Given the description of an element on the screen output the (x, y) to click on. 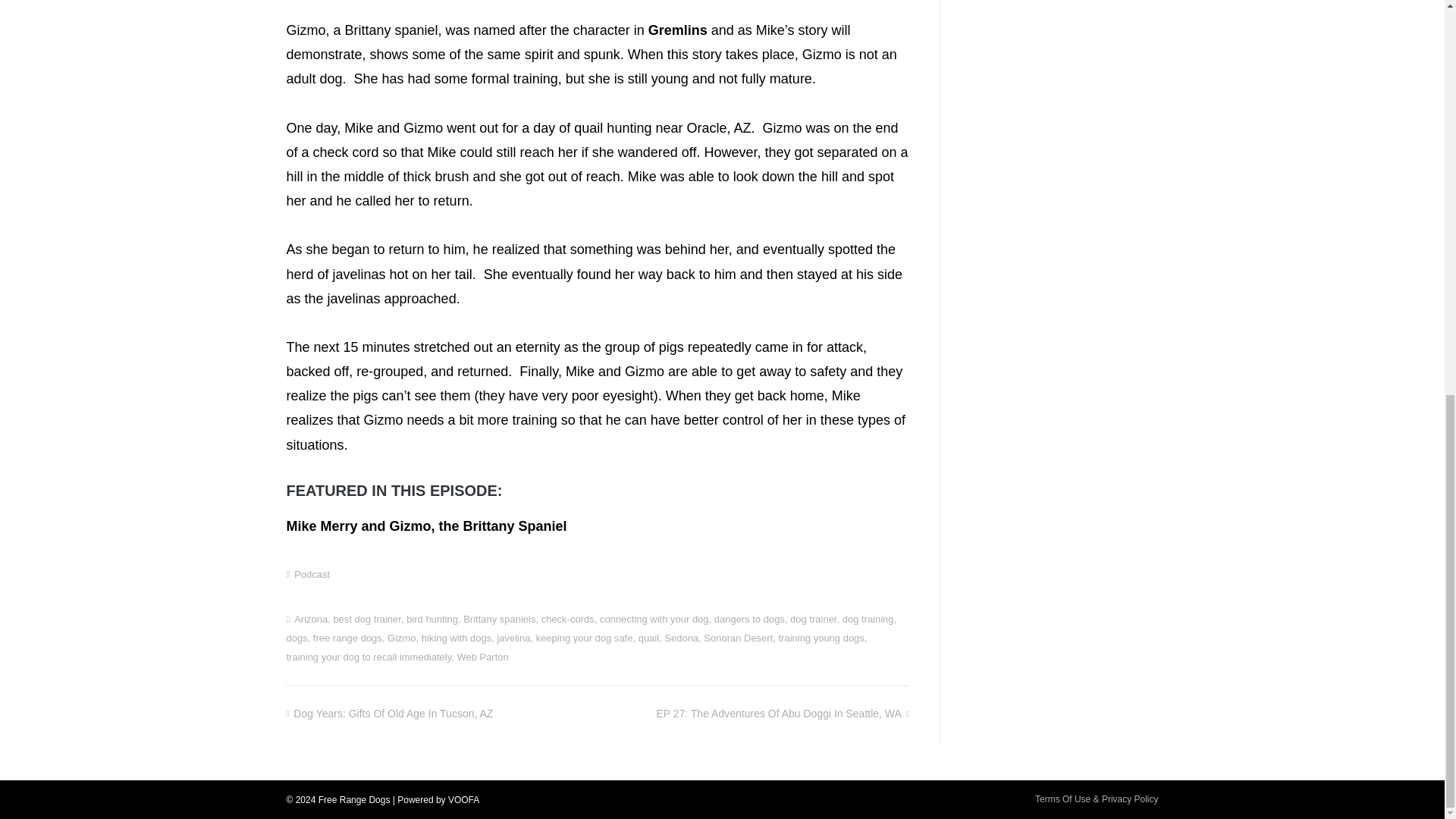
hiking with dogs (457, 637)
dog trainer (812, 618)
connecting with your dog (654, 618)
bird hunting (432, 618)
Gizmo (401, 637)
dog training (868, 618)
best dog trainer (367, 618)
check-cords (567, 618)
Brittany spaniels (499, 618)
dangers to dogs (749, 618)
Sedona (680, 637)
Arizona (310, 618)
Podcast (312, 573)
training young dogs (820, 637)
dogs (296, 637)
